Given the description of an element on the screen output the (x, y) to click on. 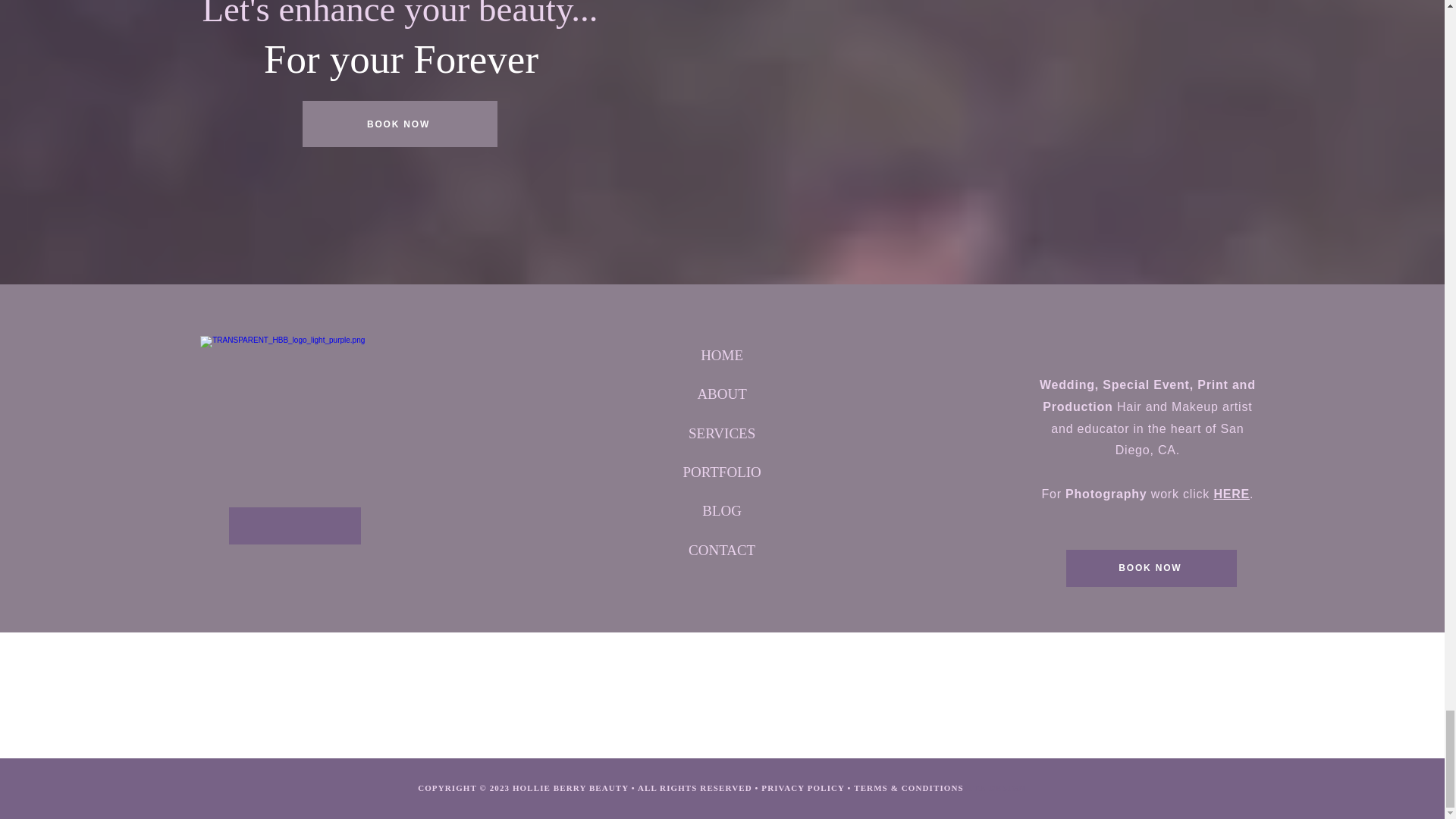
HOME (721, 355)
ABOUT (721, 393)
BOOK NOW (399, 123)
